Given the description of an element on the screen output the (x, y) to click on. 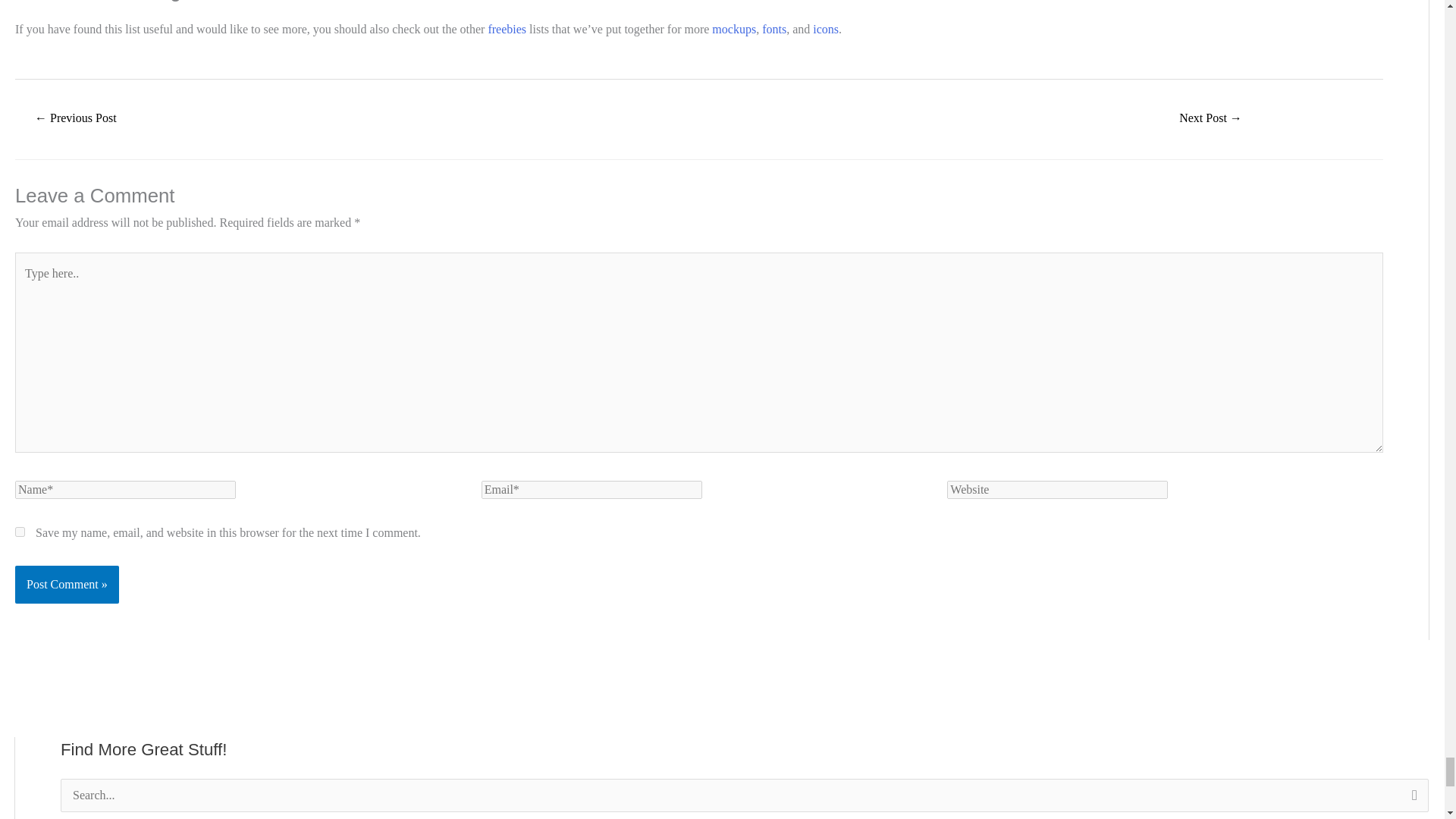
Free Minimal Resume Templates (75, 119)
yes (19, 532)
